Given the description of an element on the screen output the (x, y) to click on. 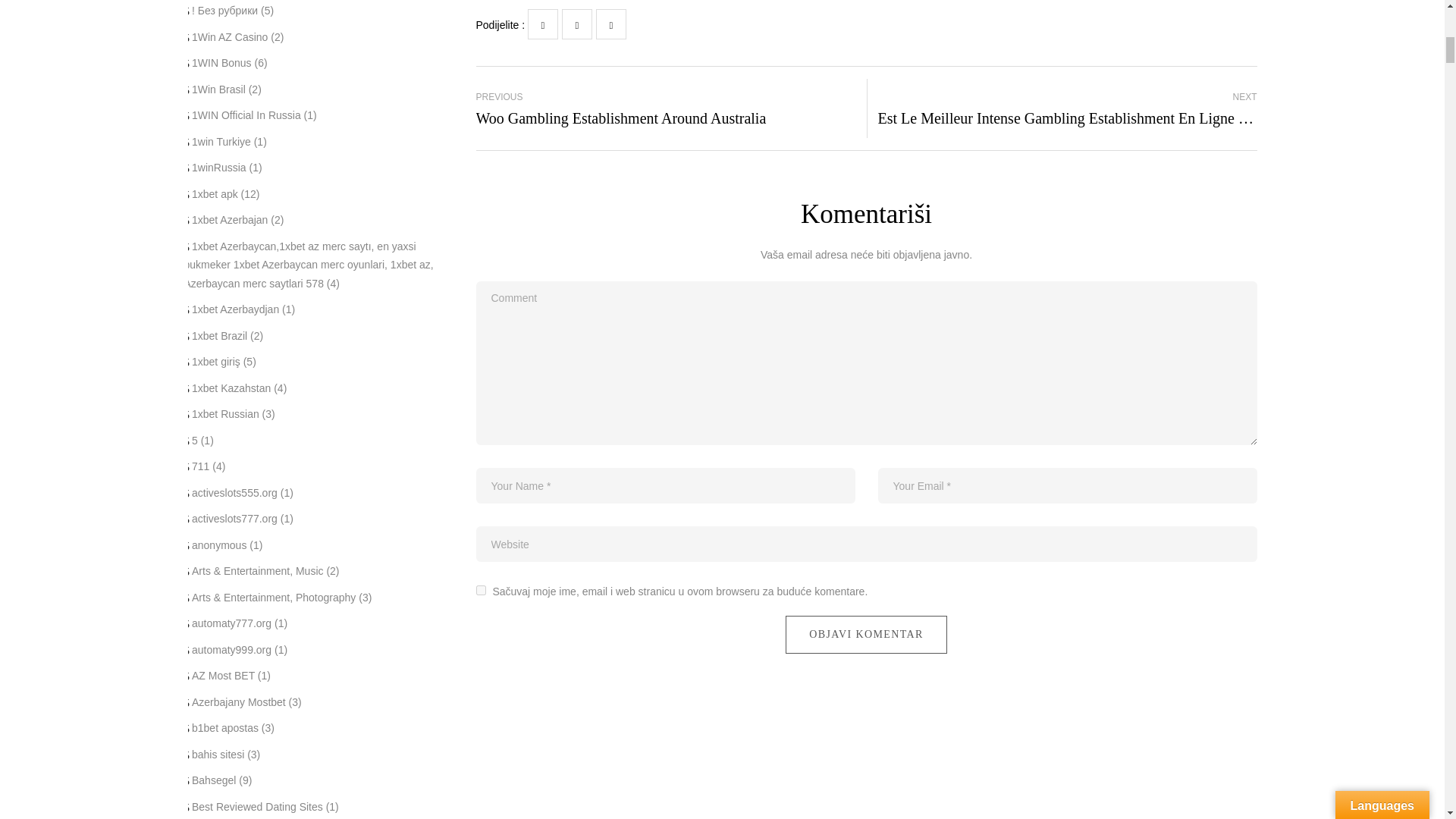
Twitter (577, 24)
LinkedIn (610, 24)
yes (481, 590)
Facebook (542, 24)
Objavi komentar (866, 634)
